Given the description of an element on the screen output the (x, y) to click on. 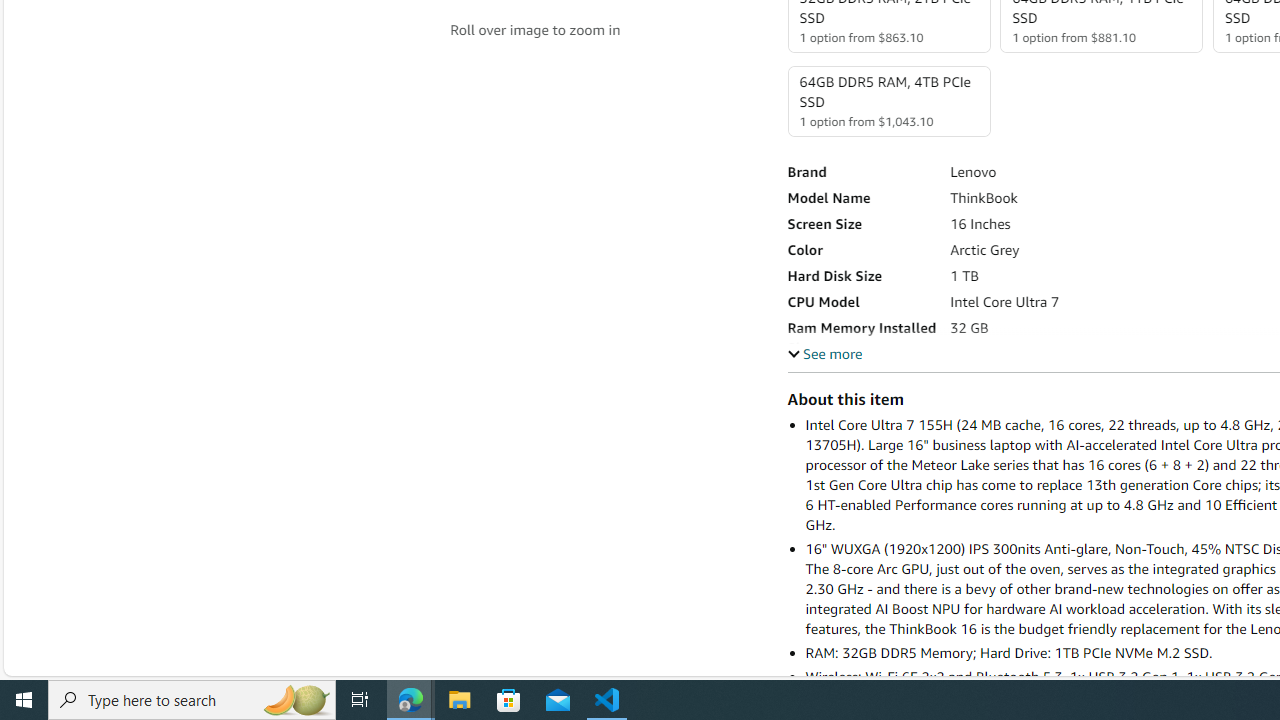
64GB DDR5 RAM, 4TB PCIe SSD 1 option from $1,043.10 (888, 101)
See more (824, 353)
